Given the description of an element on the screen output the (x, y) to click on. 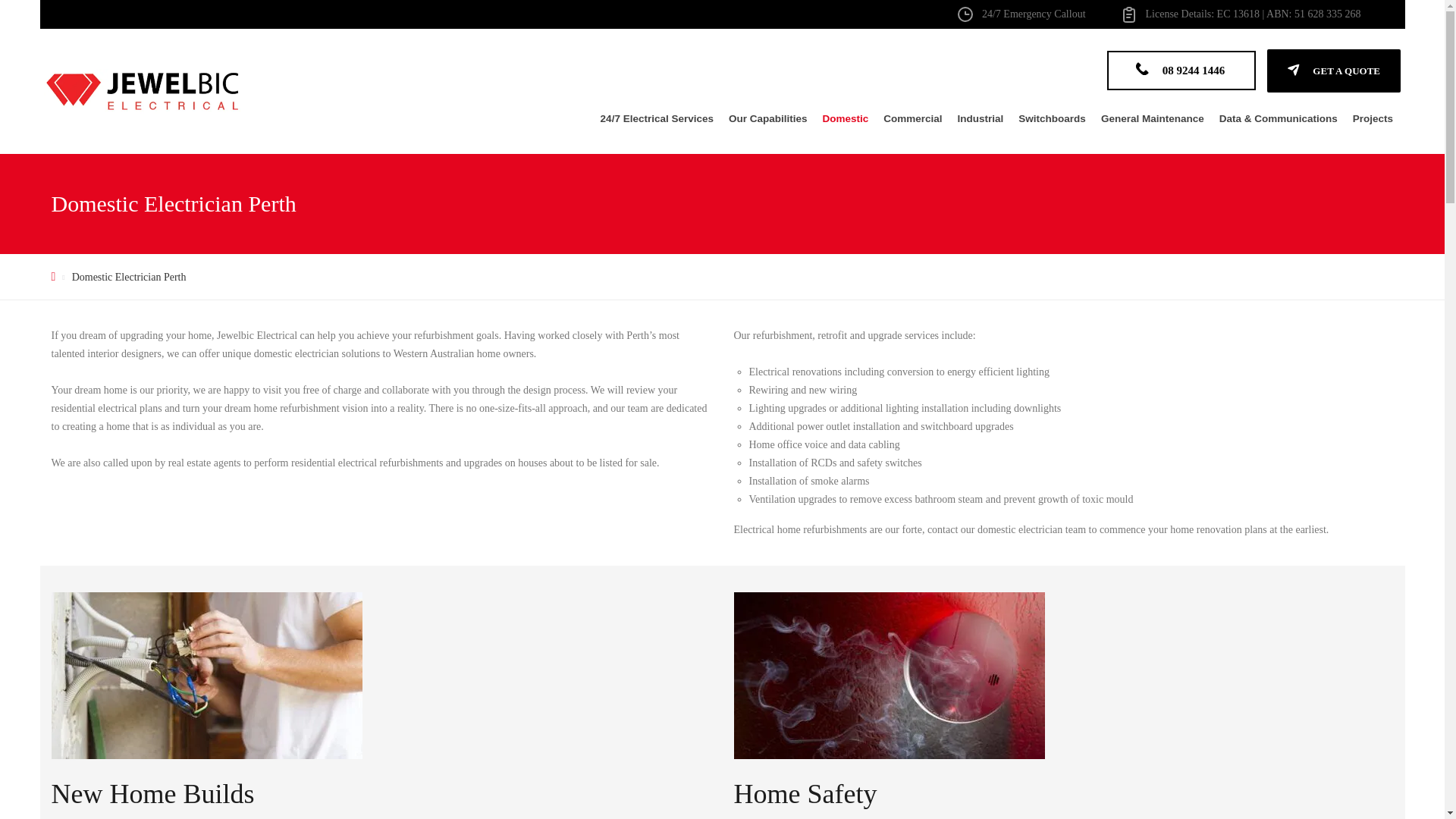
Commercial (912, 118)
08 9244 1446 (1180, 70)
General Maintenance (1152, 118)
GET A QUOTE (1333, 70)
safety-electrical (889, 675)
Our Capabilities (767, 118)
Projects (1372, 118)
Industrial (980, 118)
Domestic (845, 118)
Switchboards (1051, 118)
